Given the description of an element on the screen output the (x, y) to click on. 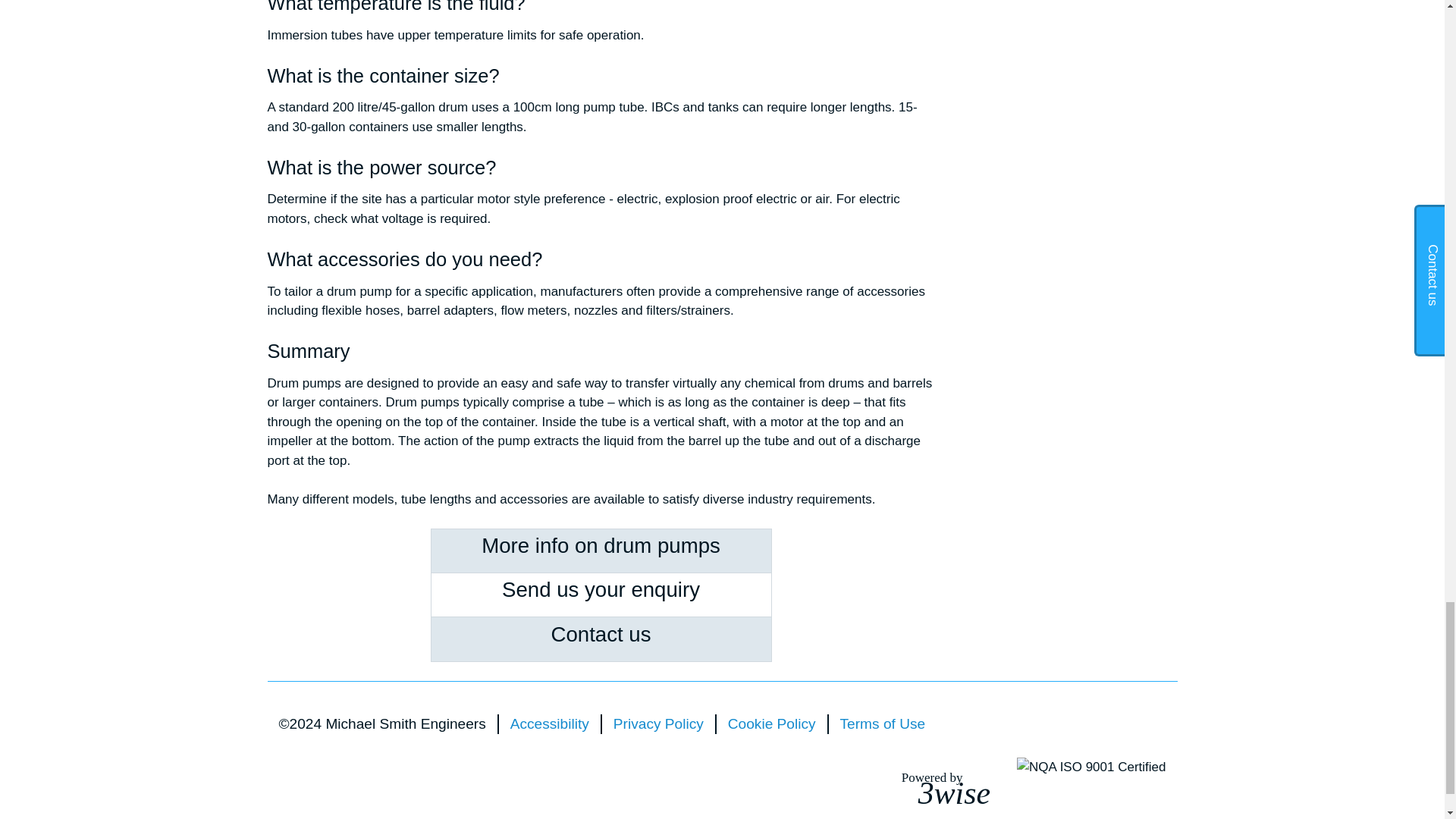
Terms of Use (883, 723)
More info on drum pumps (600, 545)
Privacy Policy (954, 785)
Contact us (657, 723)
Cookie Policy (600, 634)
Accessibility (771, 723)
Send us your enquiry (550, 723)
